Given the description of an element on the screen output the (x, y) to click on. 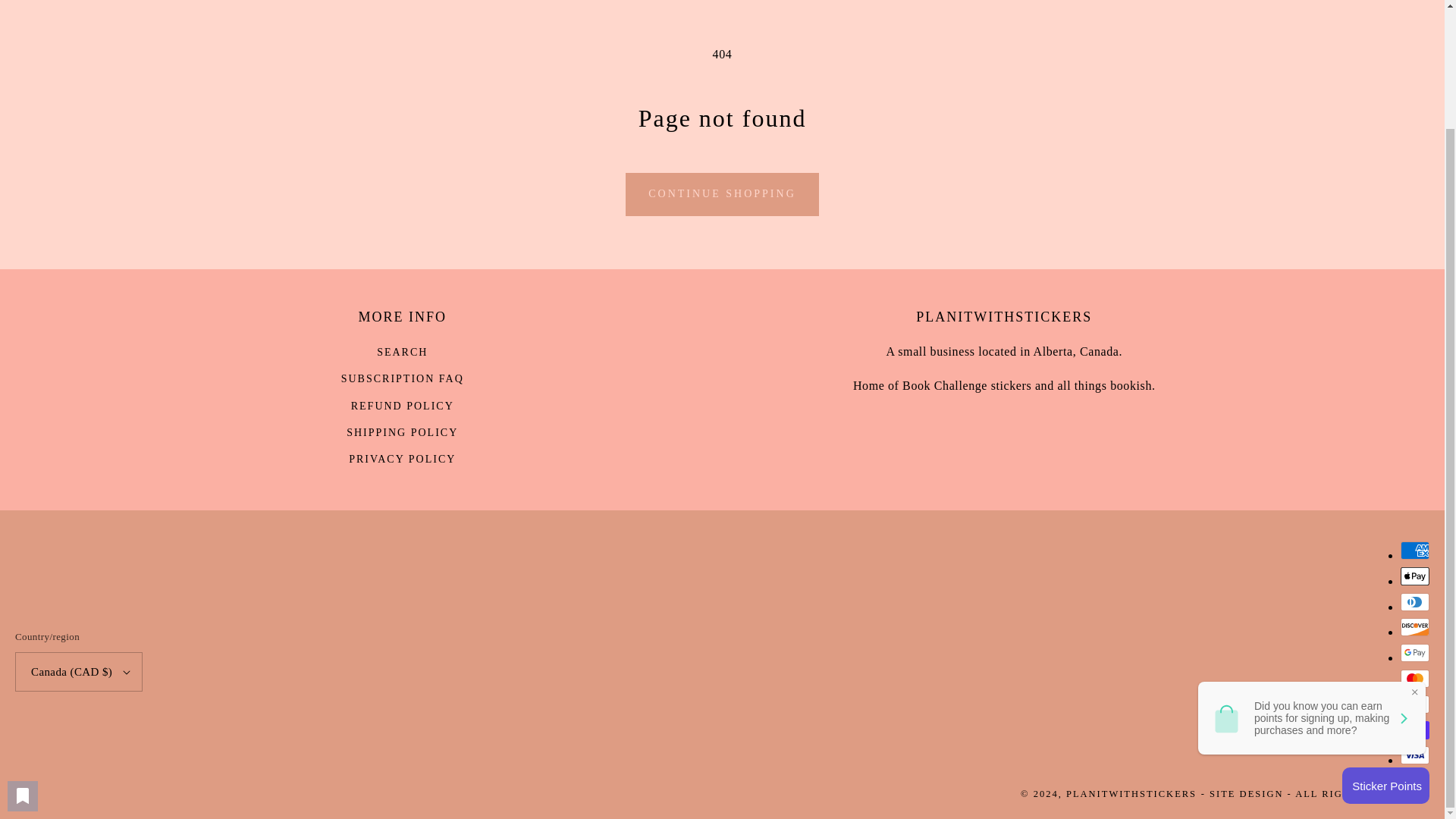
American Express (1414, 550)
Shop Pay (1414, 730)
LoyaltyLion beacon (1385, 643)
Discover (1414, 627)
Diners Club (1414, 601)
Apple Pay (1414, 576)
Visa (1414, 755)
Mastercard (1414, 678)
Google Pay (1414, 652)
PayPal (1414, 704)
